Given the description of an element on the screen output the (x, y) to click on. 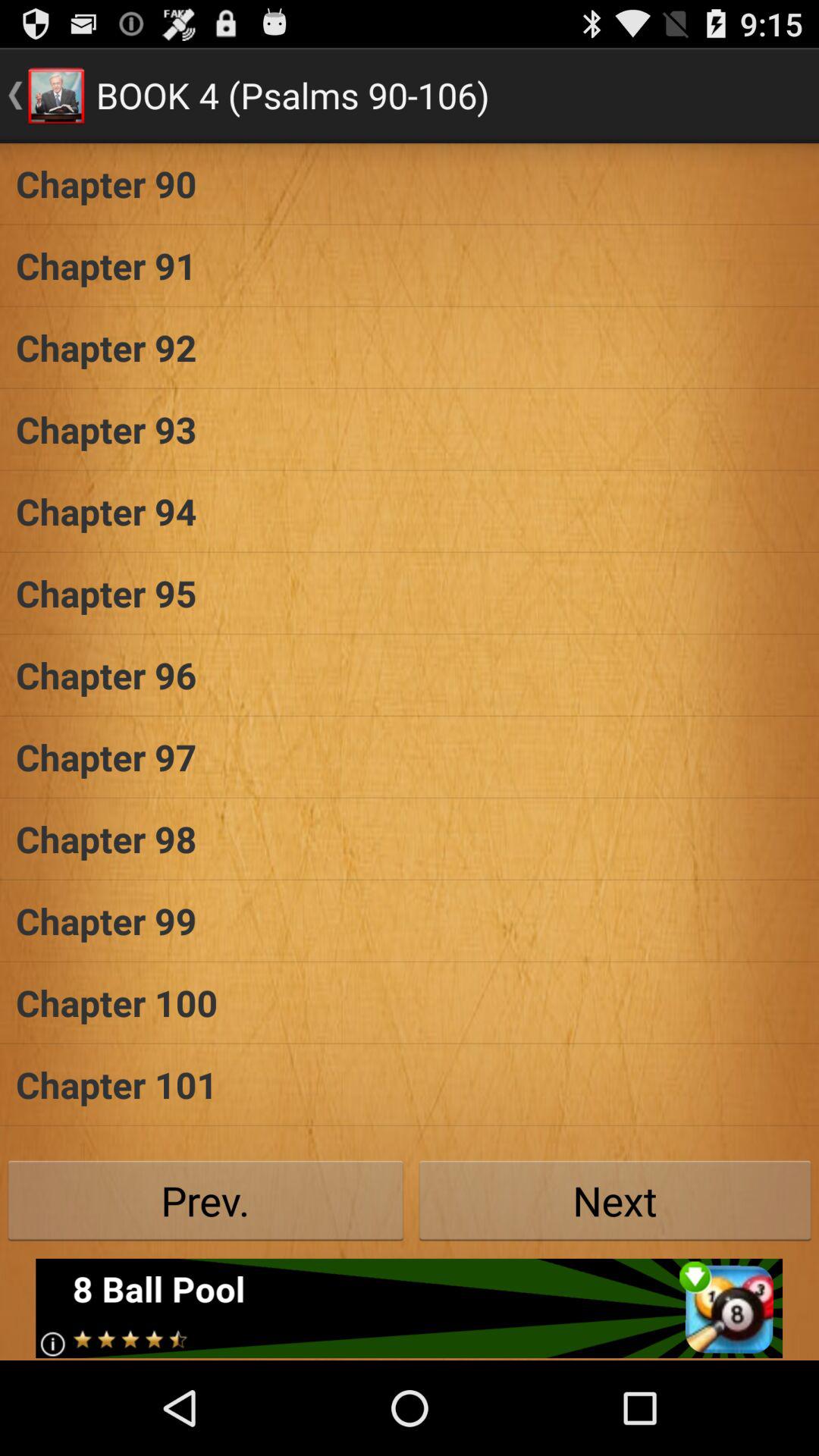
click the advertisement (408, 1308)
